Given the description of an element on the screen output the (x, y) to click on. 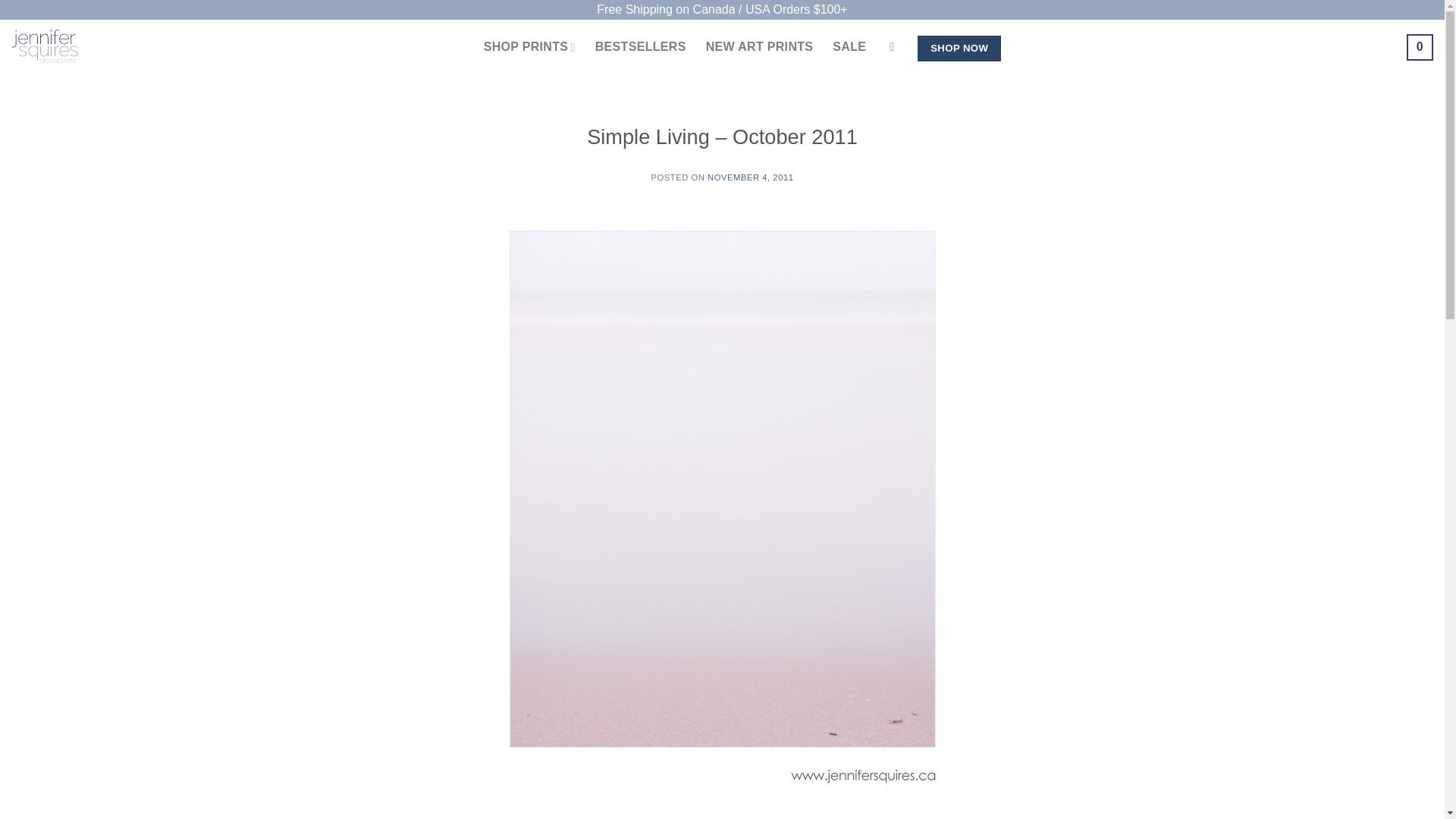
SHOP NOW (959, 48)
NEW ART PRINTS (759, 46)
BESTSELLERS (640, 46)
SALE (849, 46)
SHOP PRINTS (529, 47)
